Given the description of an element on the screen output the (x, y) to click on. 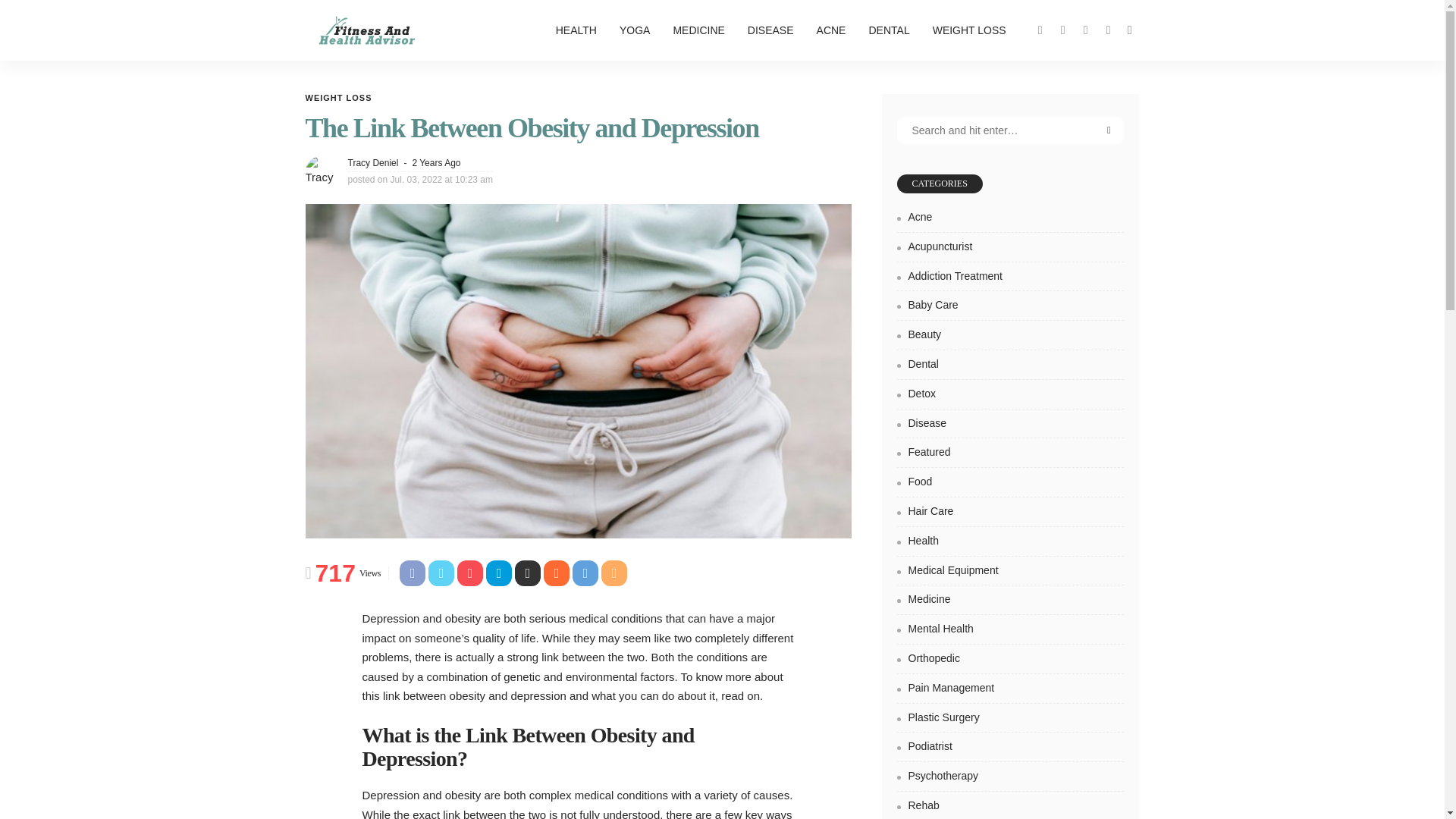
DISEASE (770, 30)
Tracy Deniel (372, 162)
DENTAL (888, 30)
Weight Loss (337, 98)
HEALTH (576, 30)
MEDICINE (698, 30)
fitness and health advisor (366, 30)
WEIGHT LOSS (337, 98)
WEIGHT LOSS (969, 30)
search for: (1010, 130)
